Given the description of an element on the screen output the (x, y) to click on. 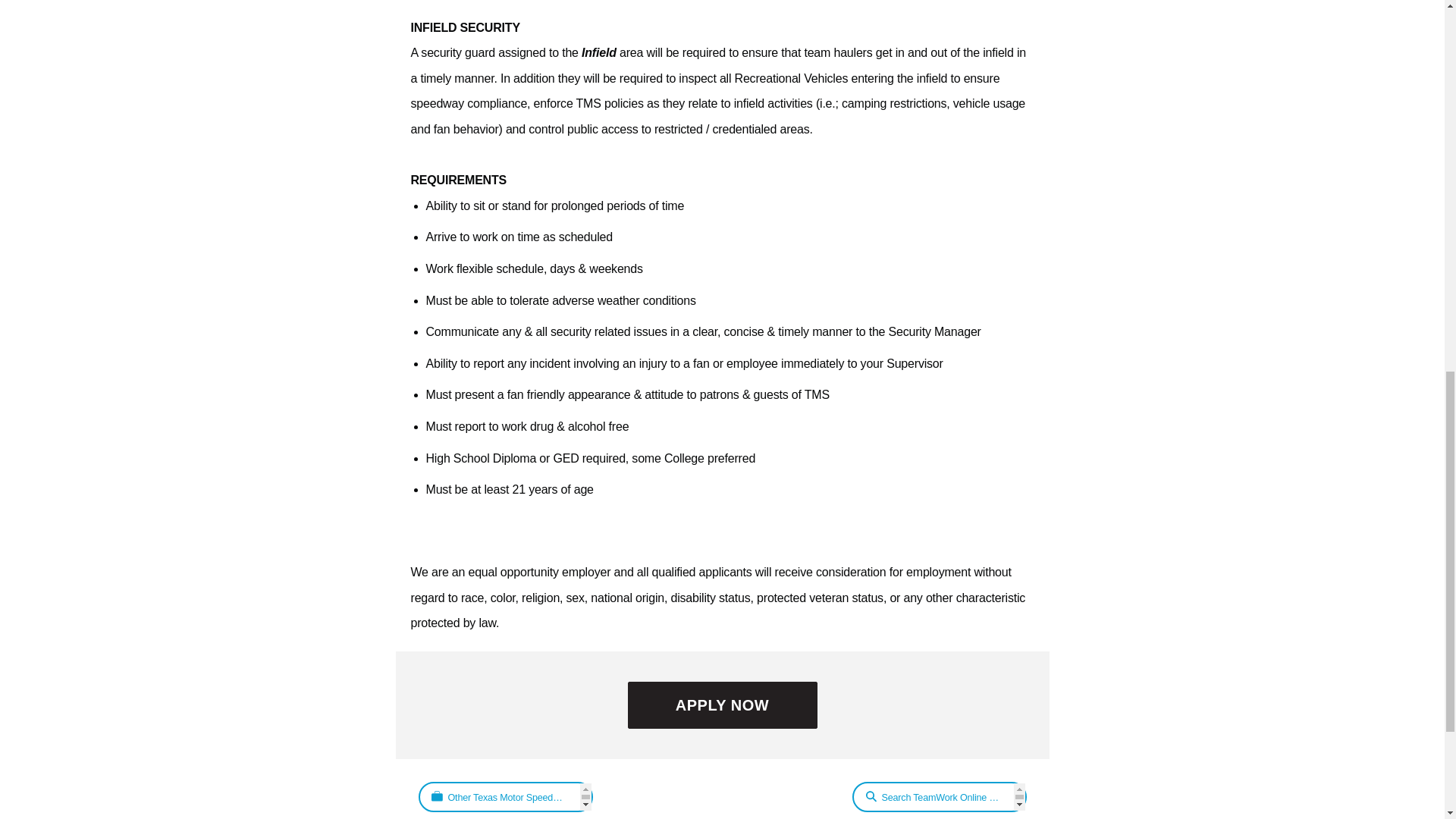
Search TeamWork Online Jobs (938, 797)
APPLY NOW (721, 704)
Other Texas Motor Speedway Jobs (505, 797)
